Given the description of an element on the screen output the (x, y) to click on. 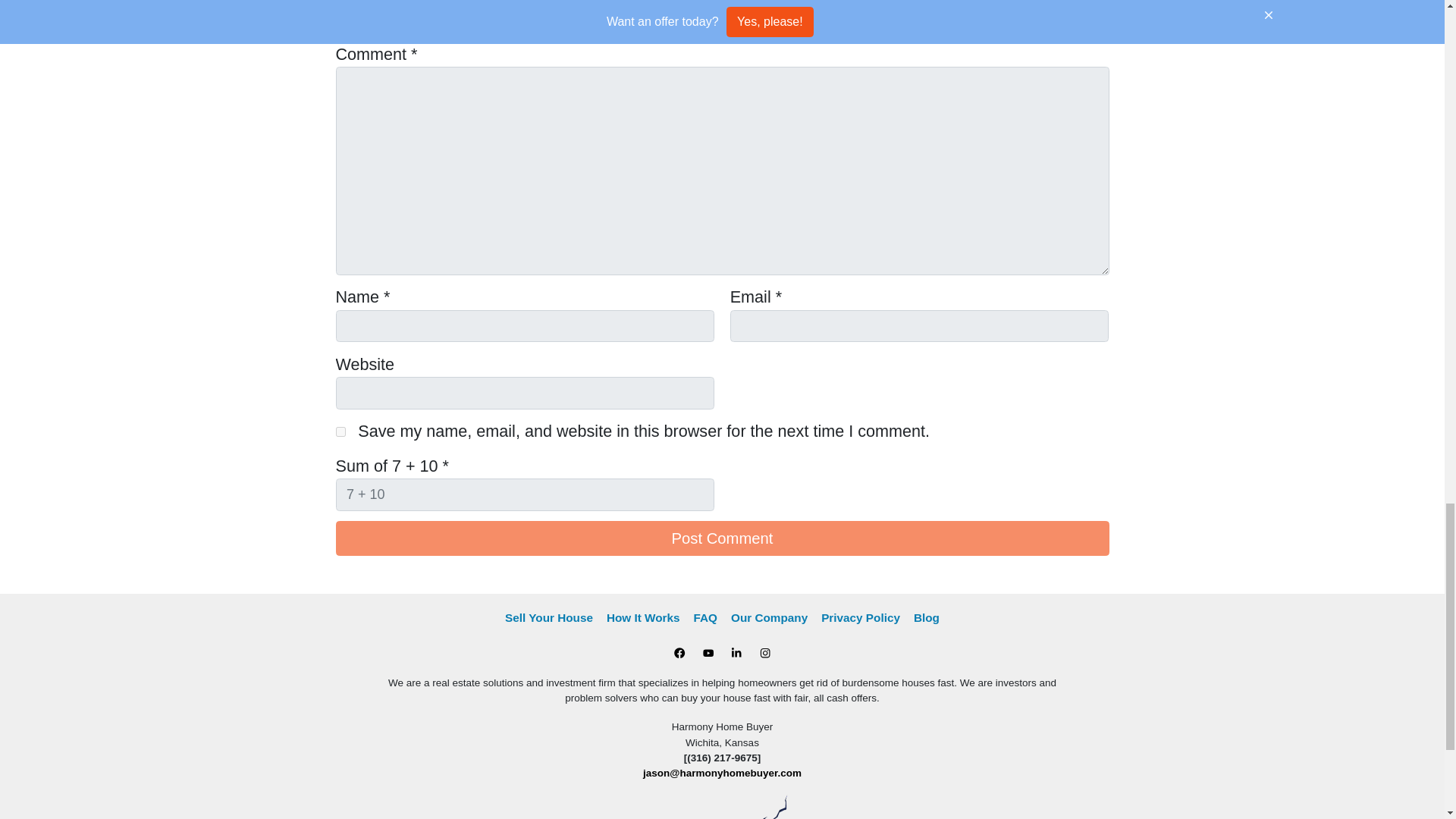
Instagram (764, 652)
Our Company (768, 618)
Facebook (678, 652)
yes (339, 431)
Post Comment (721, 538)
How It Works (643, 618)
LinkedIn (735, 652)
Sell Your House (548, 618)
Blog (926, 618)
FAQ (705, 618)
